Given the description of an element on the screen output the (x, y) to click on. 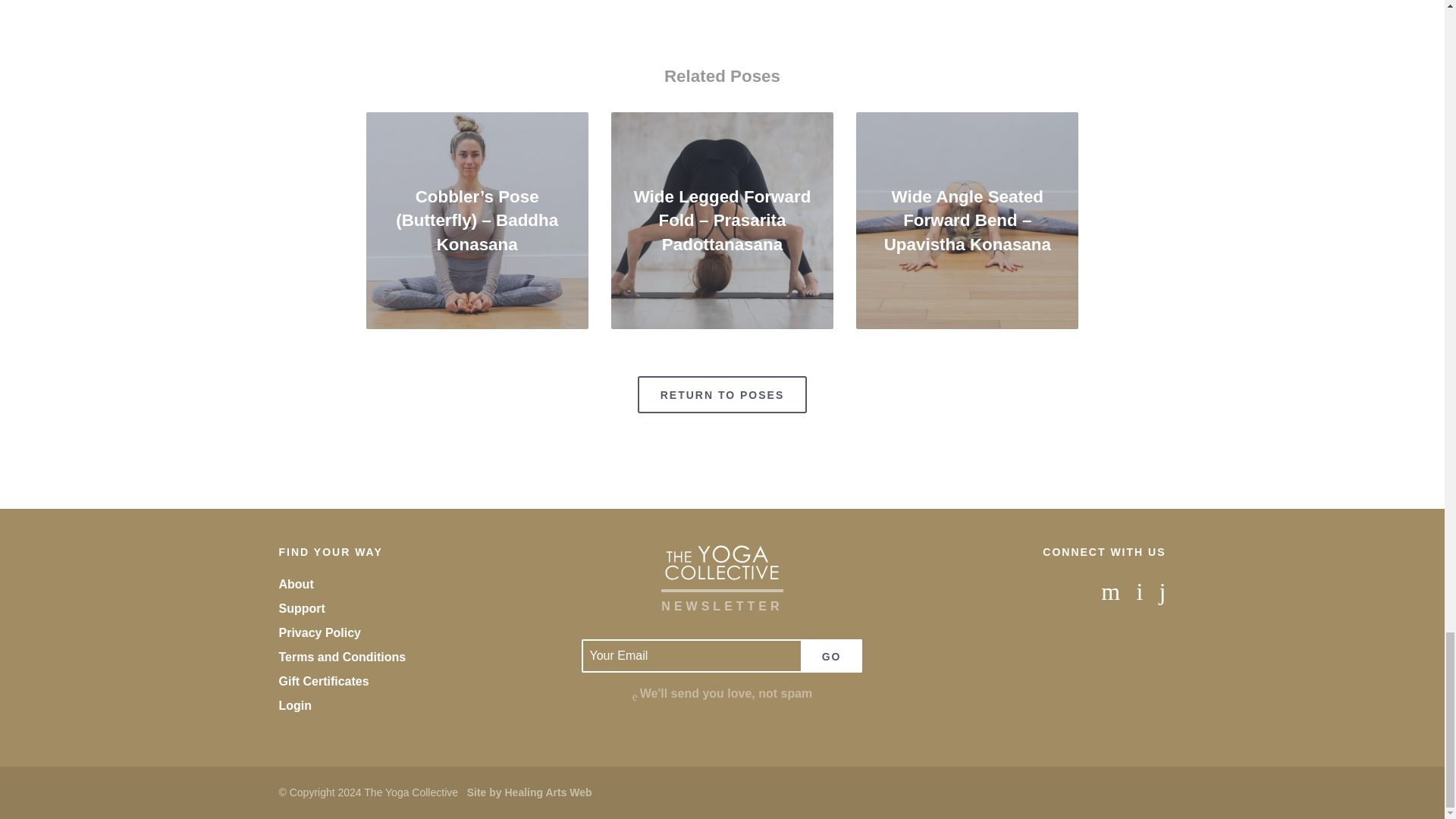
Yoga Web Design (529, 792)
